Given the description of an element on the screen output the (x, y) to click on. 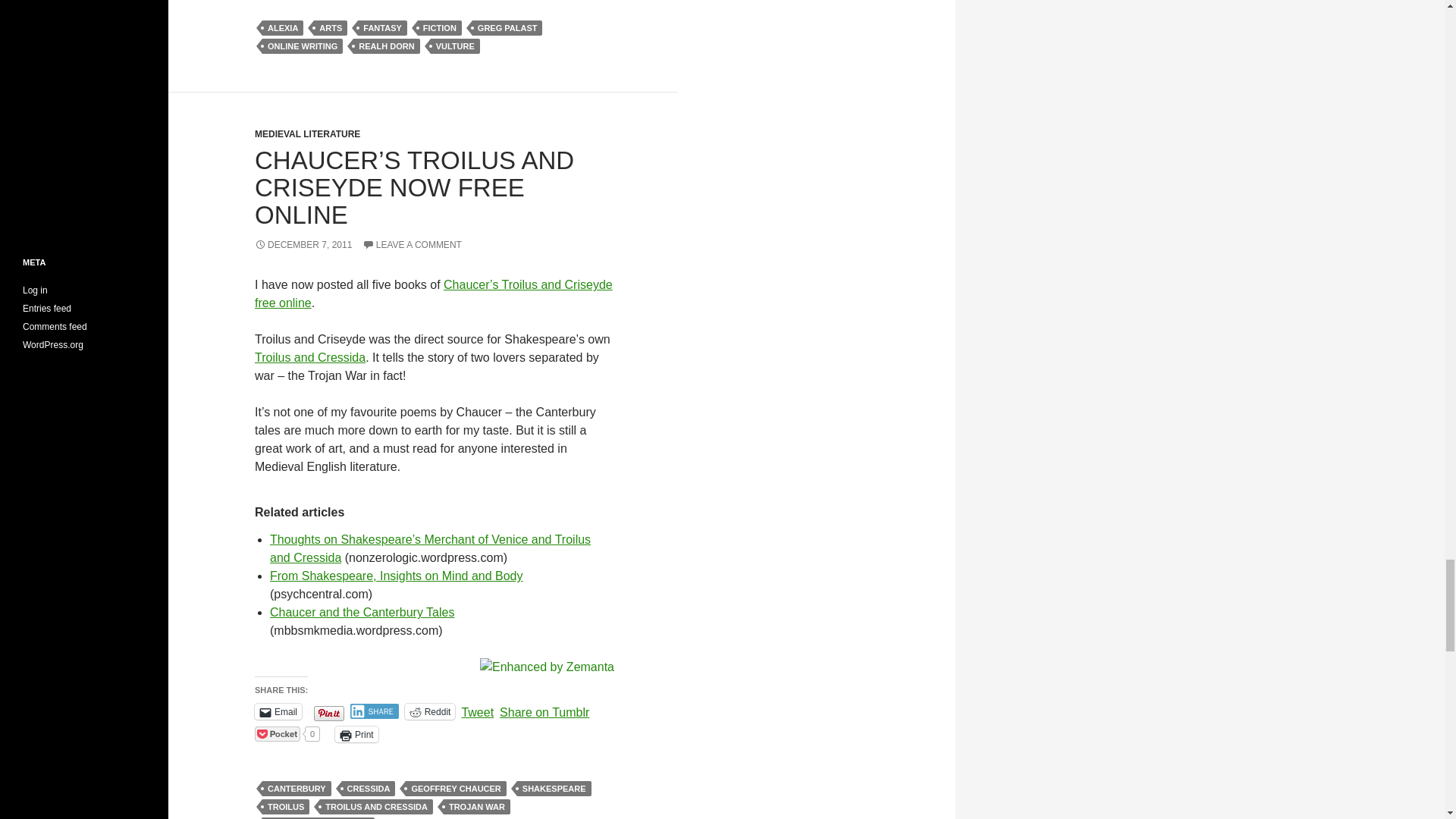
Click to share on Reddit (429, 711)
Share on Tumblr (544, 710)
Click to email a link to a friend (277, 711)
Click to print (356, 734)
